Given the description of an element on the screen output the (x, y) to click on. 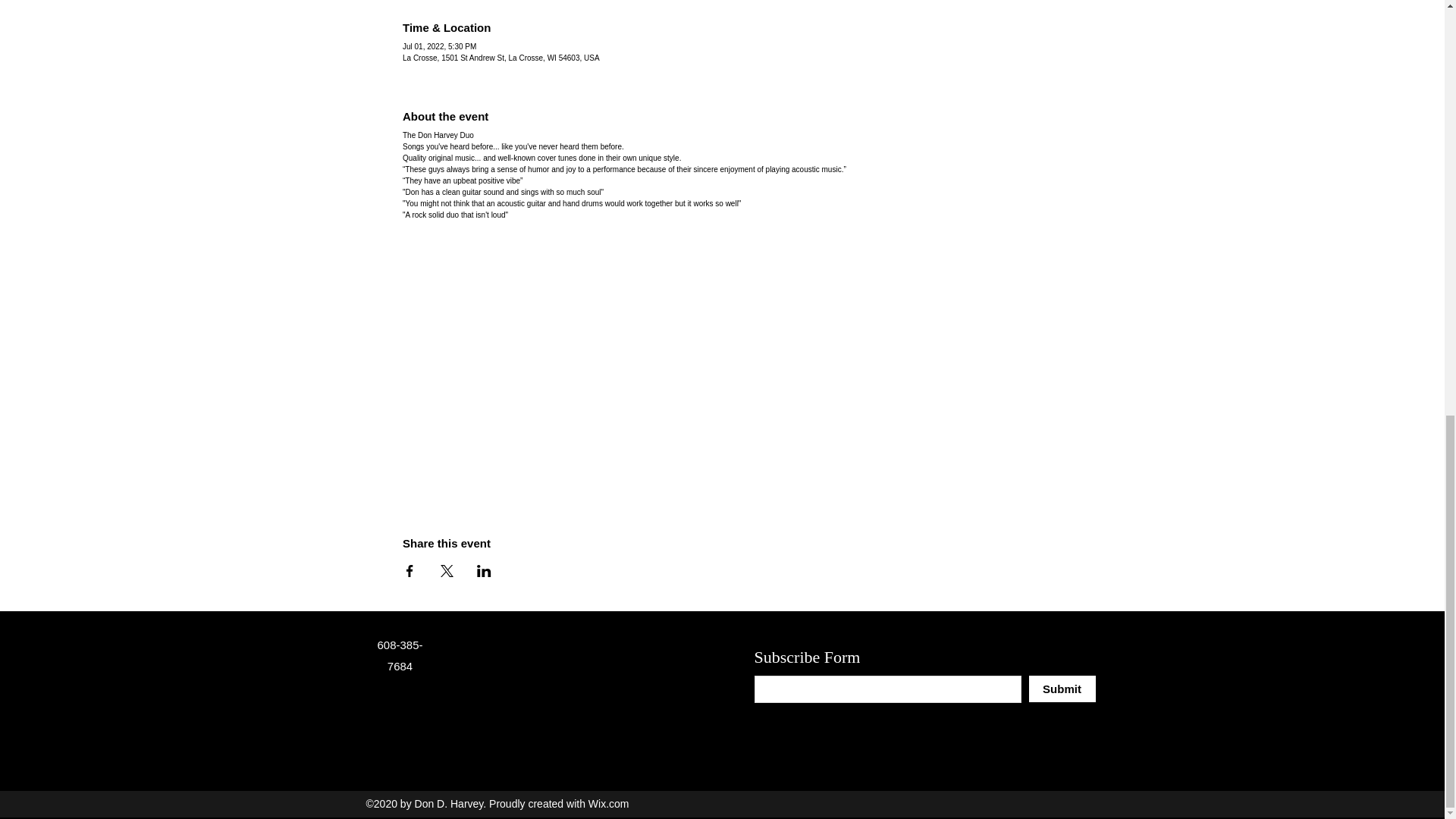
Submit (1060, 688)
